Given the description of an element on the screen output the (x, y) to click on. 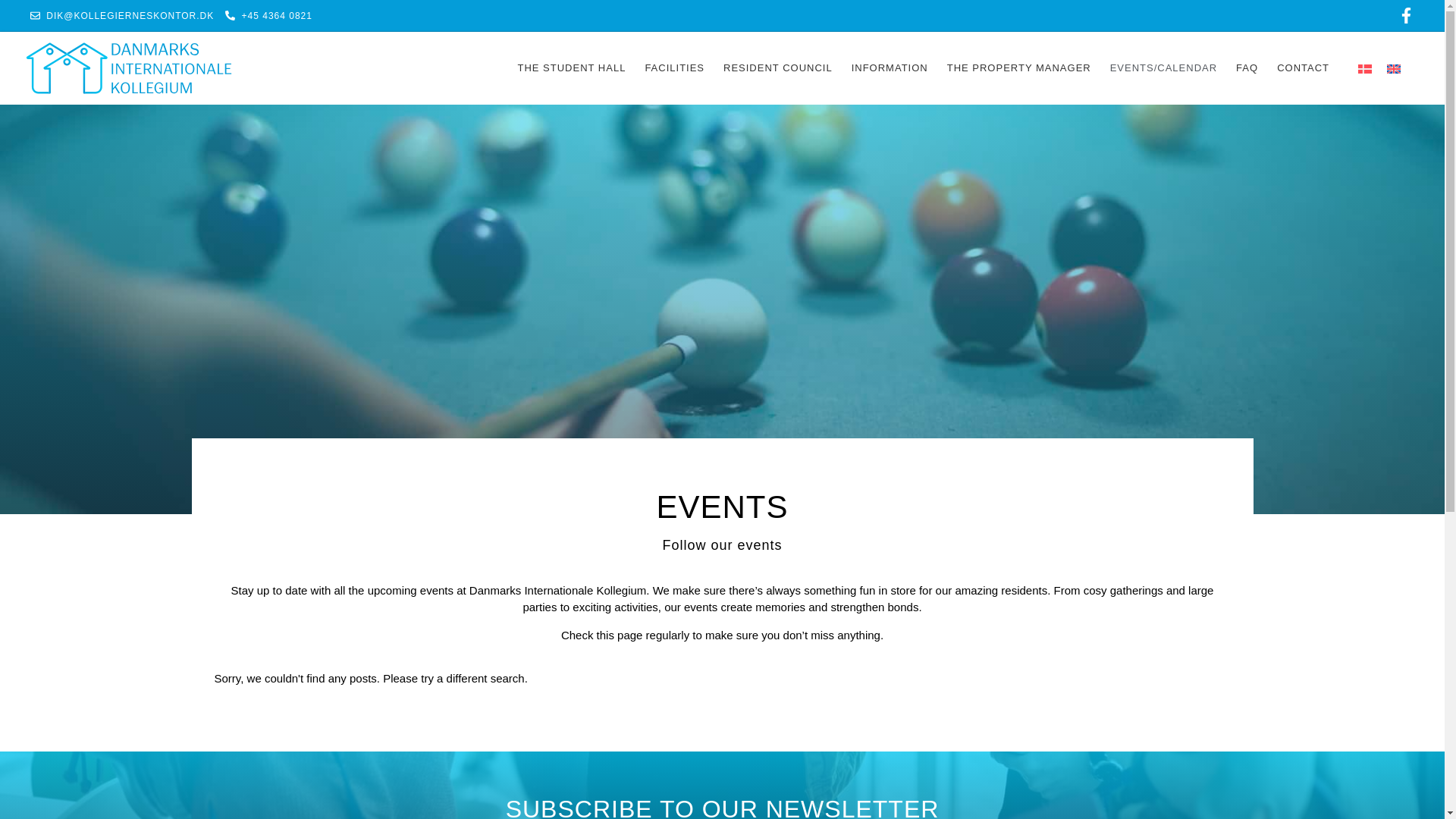
RESIDENT COUNCIL (777, 68)
CONTACT (1302, 68)
FACILITIES (674, 68)
THE STUDENT HALL (571, 68)
THE PROPERTY MANAGER (1018, 68)
INFORMATION (889, 68)
